Given the description of an element on the screen output the (x, y) to click on. 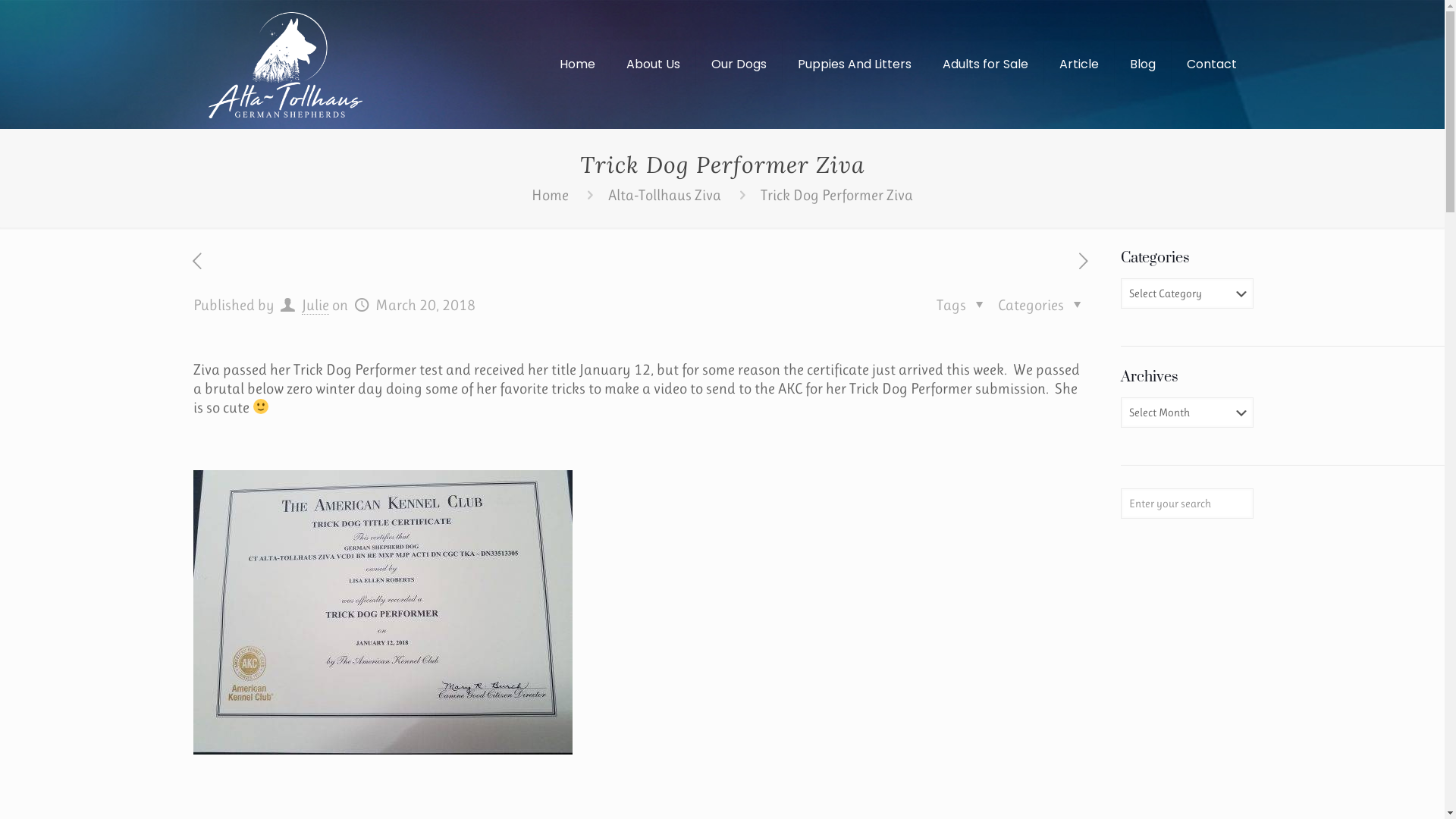
Our Dogs Element type: text (739, 64)
Julie Element type: text (315, 305)
Alta-Tollhaus Ziva Element type: text (664, 194)
Home Element type: text (577, 64)
Alta-Tollhaus Element type: hover (284, 64)
Puppies And Litters Element type: text (854, 64)
Contact Element type: text (1210, 64)
About Us Element type: text (653, 64)
Article Element type: text (1078, 64)
Home Element type: text (549, 194)
Adults for Sale Element type: text (984, 64)
Blog Element type: text (1142, 64)
